Given the description of an element on the screen output the (x, y) to click on. 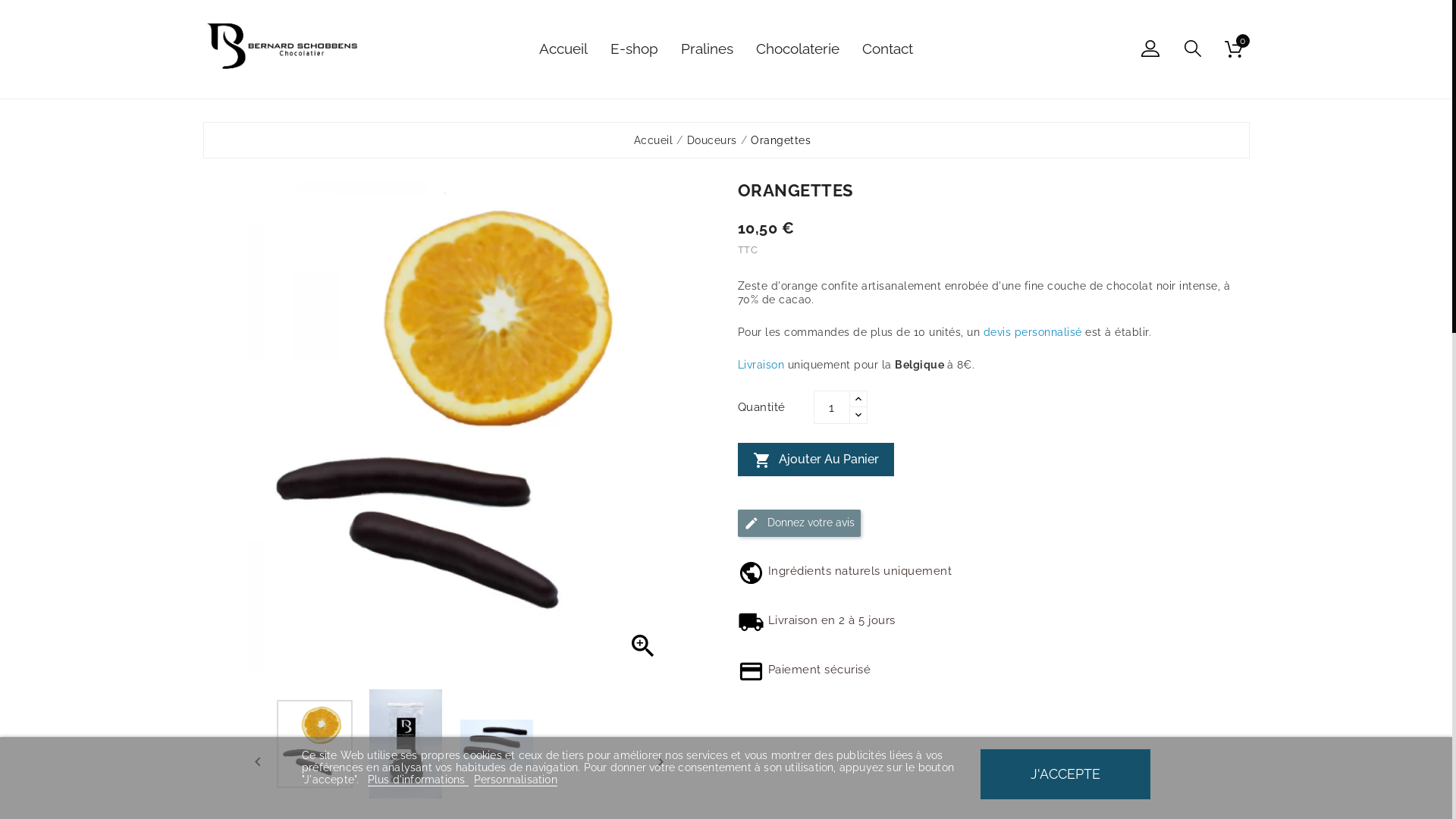
Orangettes  - 1 Element type: hover (458, 426)
0 Element type: text (1234, 49)
Douceurs Element type: text (712, 140)
Pralines Element type: text (706, 49)
E-shop Element type: text (634, 49)
Accueil Element type: text (563, 49)
Orangettes Element type: text (780, 140)
Orangettes  - 1 Element type: hover (314, 743)
edit Donnez votre avis Element type: text (798, 522)
Accueil Element type: text (653, 140)
Chocolaterie Element type: text (797, 49)
Plus d'informations Element type: text (417, 779)
Contact Element type: text (887, 49)
Personnalisation Element type: text (515, 779)
Orangettes  - 2 Element type: hover (405, 743)
Livraison Element type: text (760, 364)
Orangettes  - 3 Element type: hover (496, 742)
J'ACCEPTE Element type: text (1065, 774)
